Given the description of an element on the screen output the (x, y) to click on. 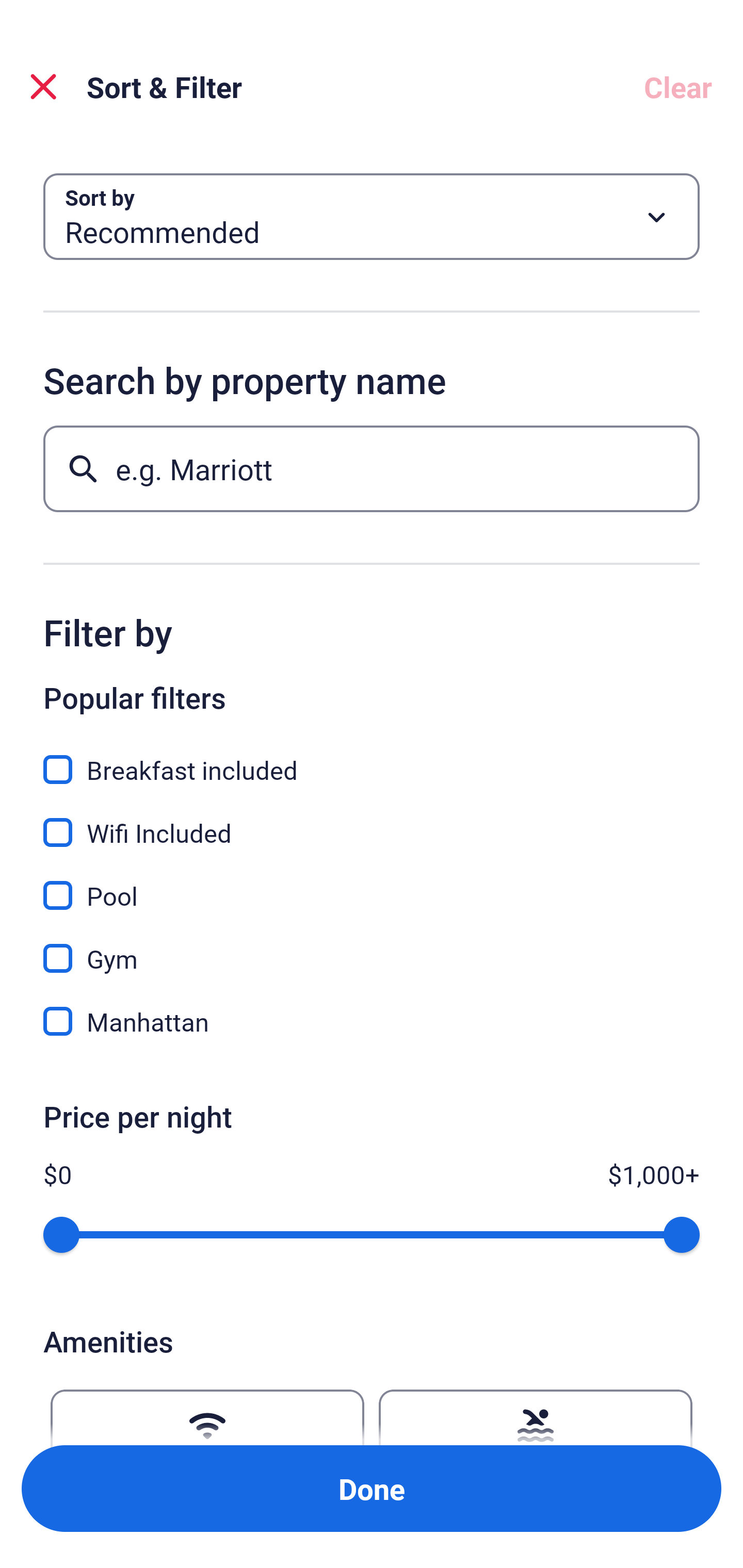
Close Sort and Filter (43, 86)
Clear (677, 86)
Sort by Button Recommended (371, 217)
e.g. Marriott Button (371, 468)
Breakfast included, Breakfast included (371, 757)
Wifi Included, Wifi Included (371, 821)
Pool, Pool (371, 883)
Gym, Gym (371, 946)
Manhattan, Manhattan (371, 1021)
Apply and close Sort and Filter Done (371, 1488)
